Given the description of an element on the screen output the (x, y) to click on. 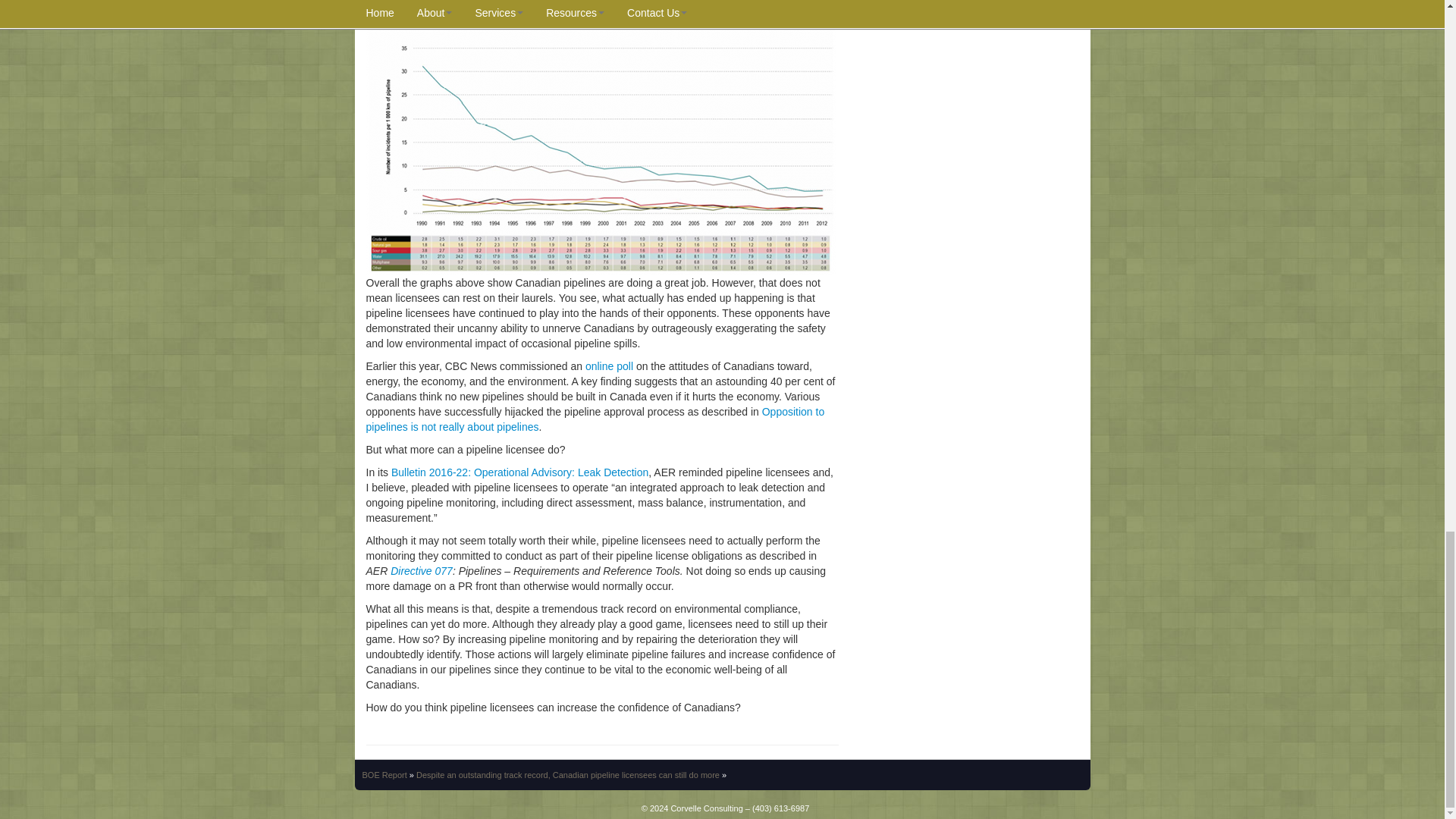
BOE (384, 774)
